Given the description of an element on the screen output the (x, y) to click on. 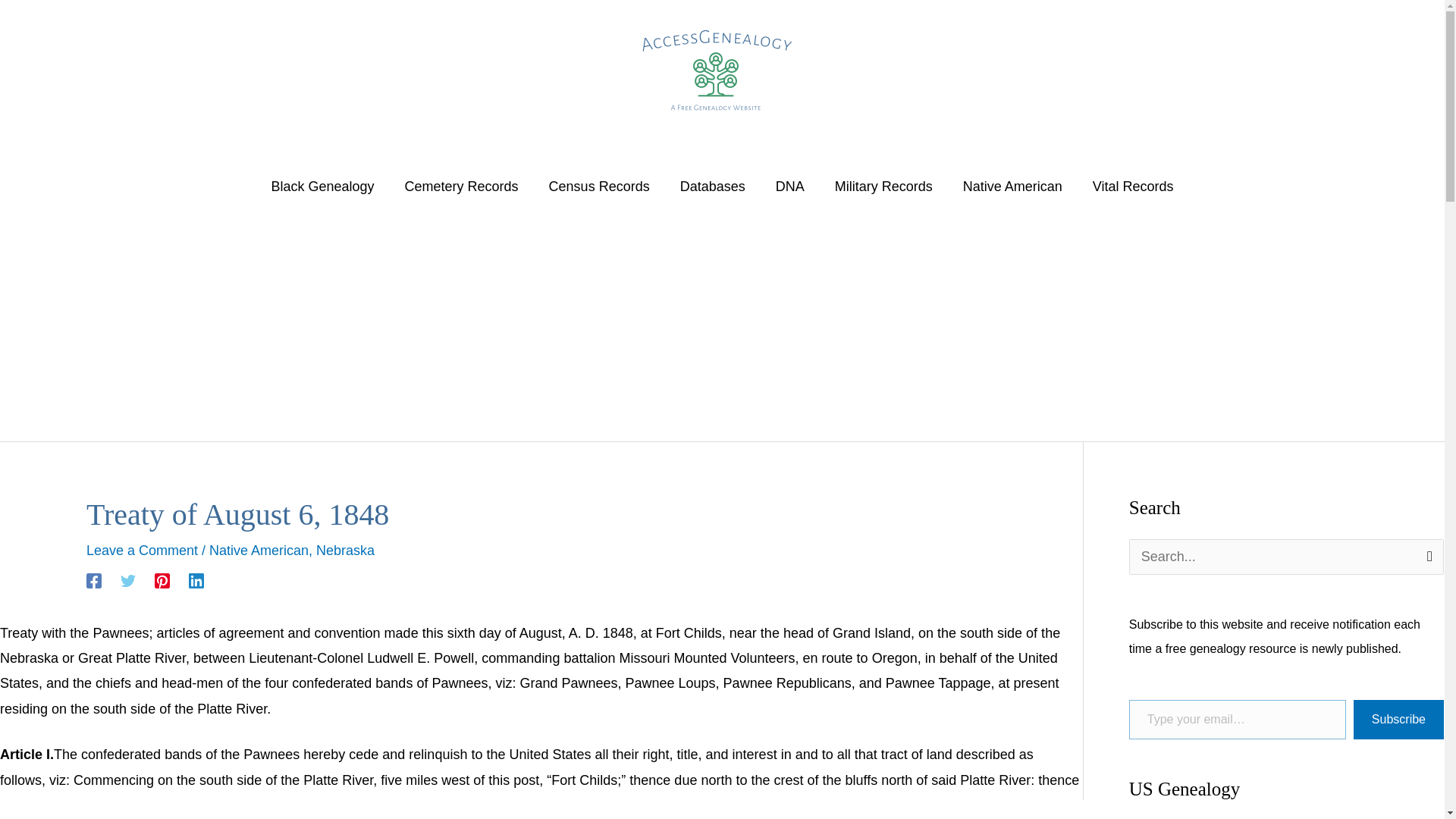
Subscribe (1399, 720)
Databases (712, 185)
Genealogy Databases (712, 185)
Census Records (599, 185)
Native American History and Genealogy (1012, 185)
Black Genealogy (322, 185)
DNA (789, 185)
Cemetery Records (462, 185)
Please fill in this field. (1237, 720)
Leave a Comment (141, 549)
Vital Records (1133, 185)
United States Cemetery Records (462, 185)
Military Records (883, 185)
Nebraska (344, 549)
